Given the description of an element on the screen output the (x, y) to click on. 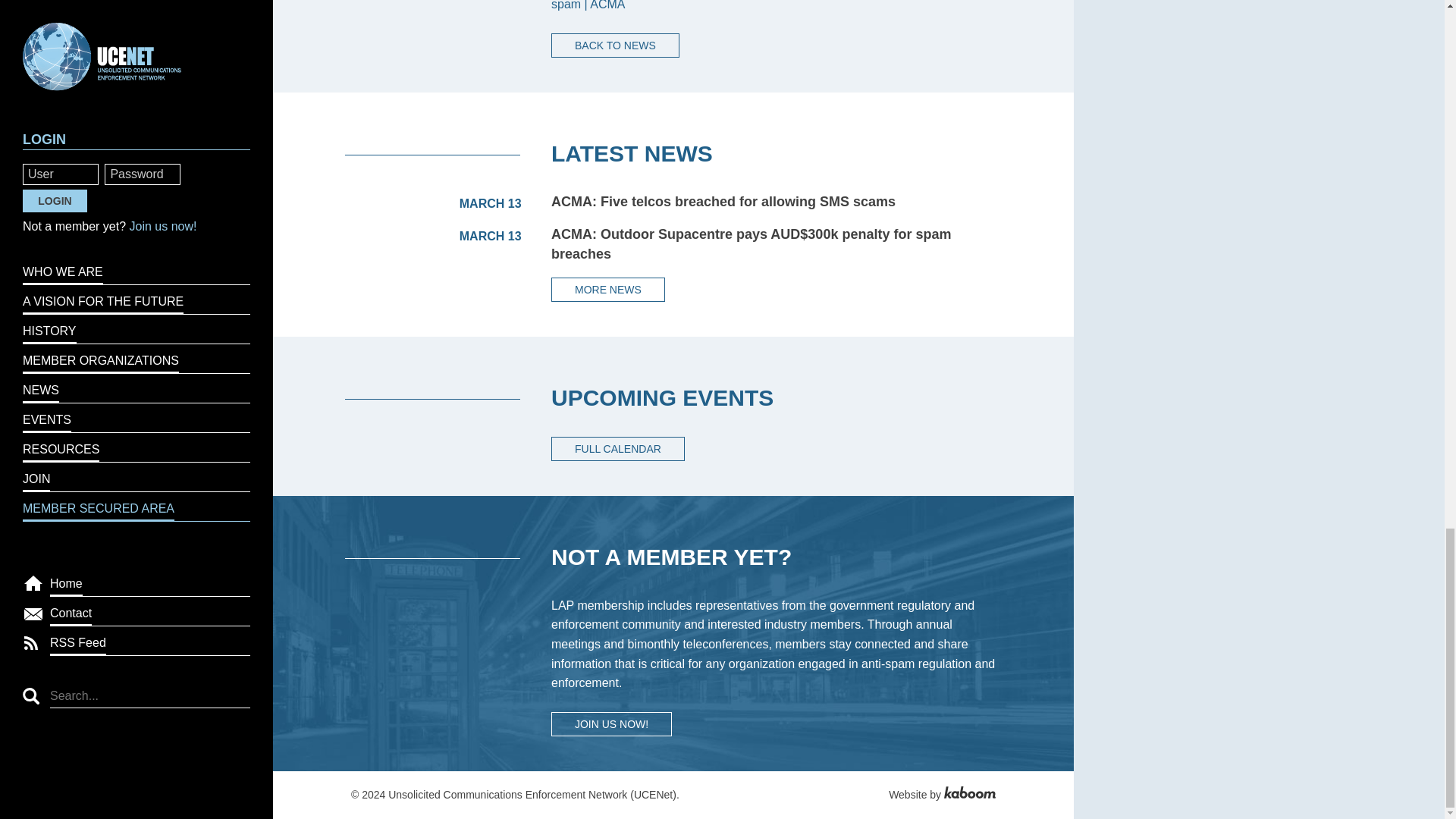
ACMA: Five telcos breached for allowing SMS scams (723, 201)
JOIN US NOW! (611, 723)
BACK TO NEWS (615, 45)
Kaboom (969, 794)
ACMA: Five telcos breached for allowing SMS scams (723, 201)
FULL CALENDAR (617, 448)
MORE NEWS (608, 289)
